Given the description of an element on the screen output the (x, y) to click on. 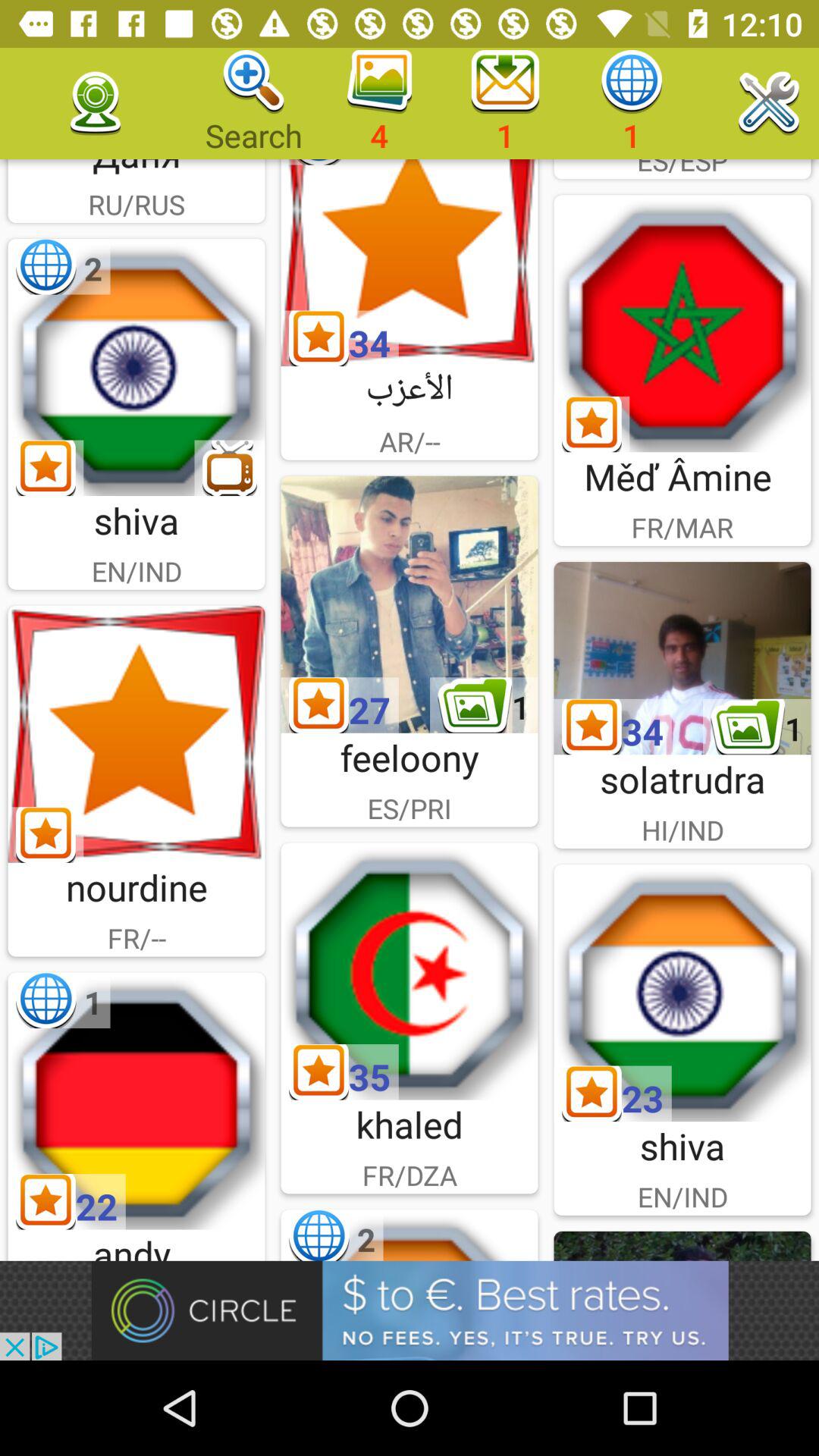
select andy (136, 1100)
